Given the description of an element on the screen output the (x, y) to click on. 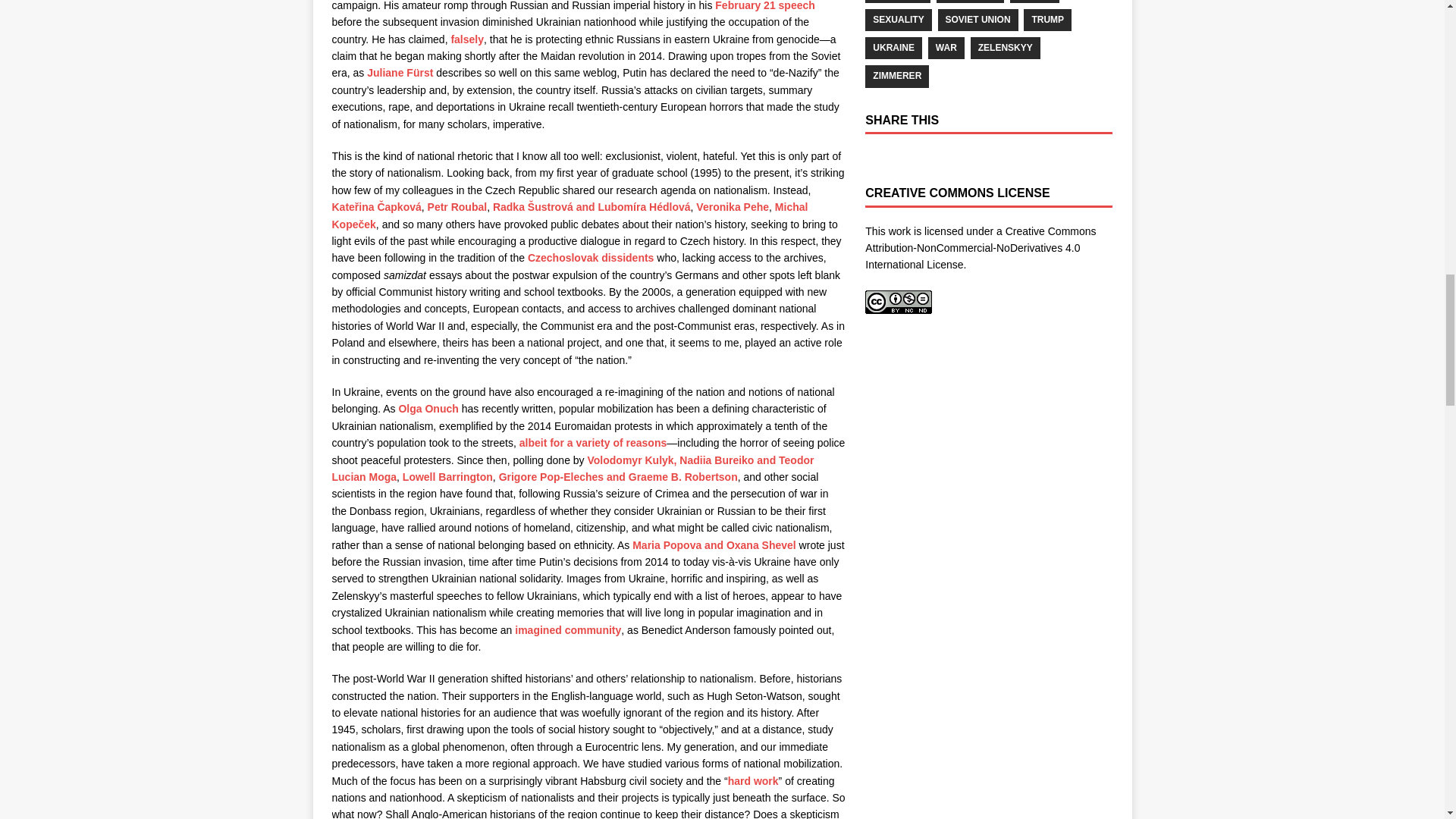
Veronika Pehe (731, 206)
falsely (466, 39)
albeit for a variety of reasons (592, 442)
Lowell Barrington (448, 476)
Volodomyr Kulyk, Nadiia Bureiko and Teodor Lucian Moga (572, 468)
Grigore Pop-Eleches and Graeme B. Robertson (618, 476)
Olga Onuch (427, 408)
Czechoslovak dissidents (590, 257)
Petr Roubal (457, 206)
February 21 speech (764, 5)
